Given the description of an element on the screen output the (x, y) to click on. 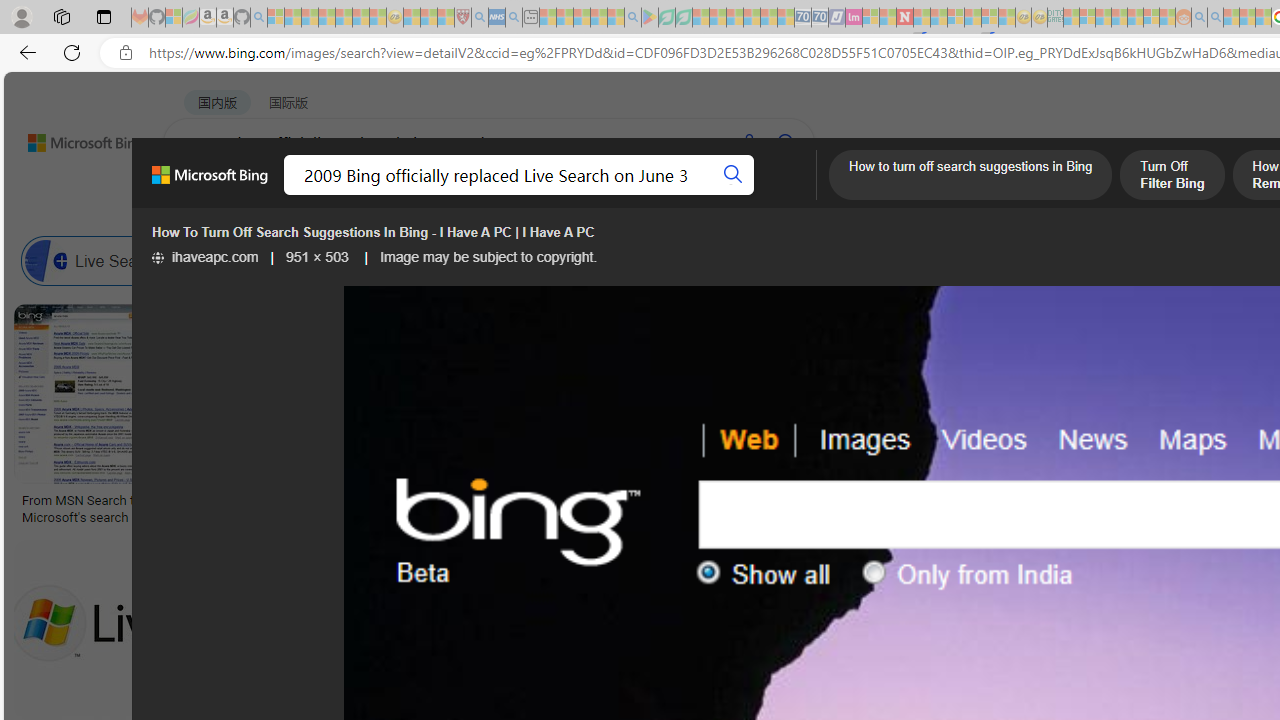
Bing Picture Search Engine (395, 260)
Image may be subject to copyright. (487, 257)
DICT (717, 195)
MY BING (276, 195)
Bing Logo and symbol, meaning, history, PNG, brand (418, 508)
Bing Voice Search (213, 260)
